Given the description of an element on the screen output the (x, y) to click on. 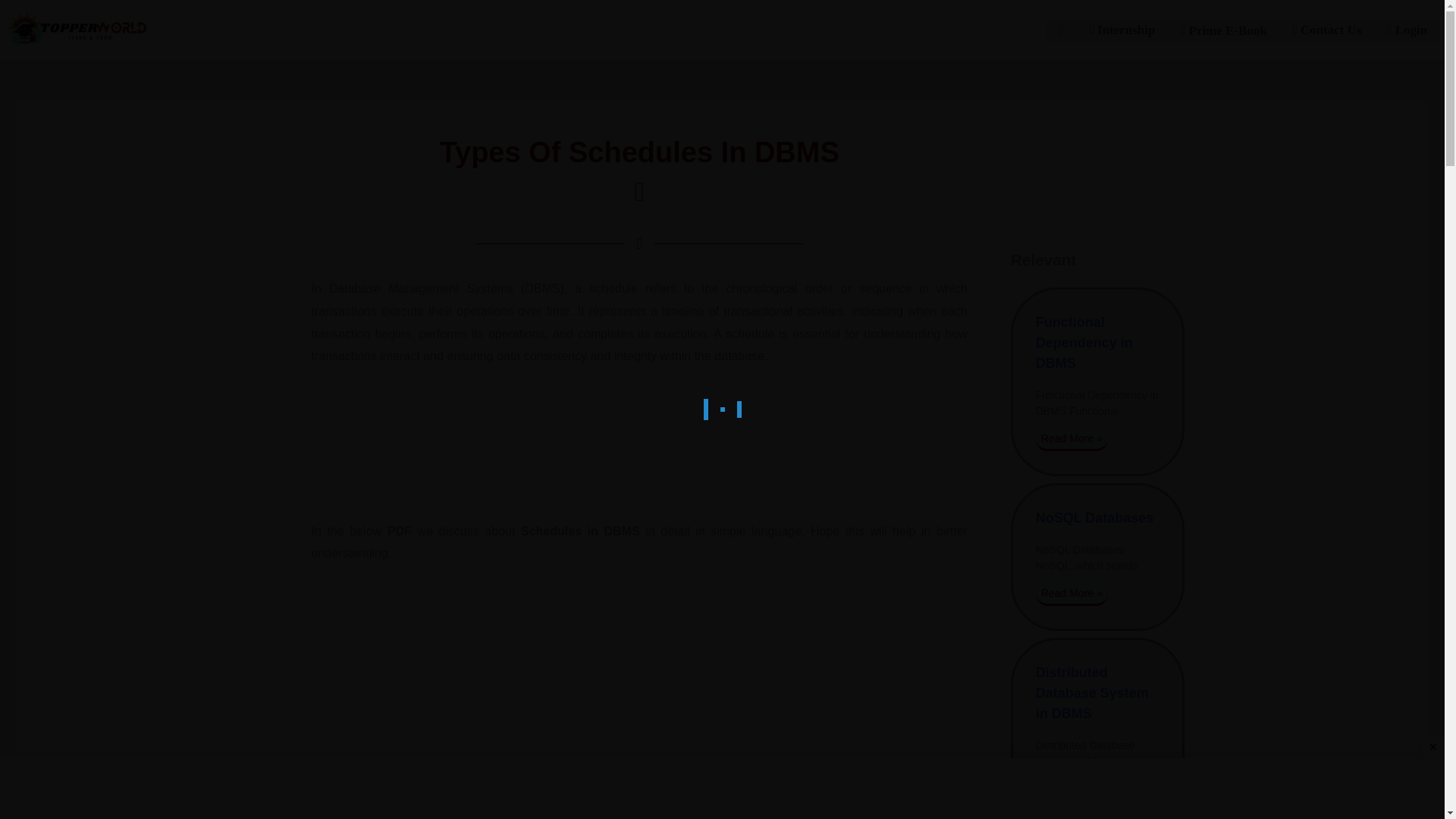
Prime E-Book (1223, 30)
NoSQL Databases (1094, 517)
Distributed Database System in DBMS (1091, 693)
Internship (1123, 30)
Functional Dependency in DBMS (1083, 342)
Contact Us (1326, 30)
Login (1406, 30)
